Given the description of an element on the screen output the (x, y) to click on. 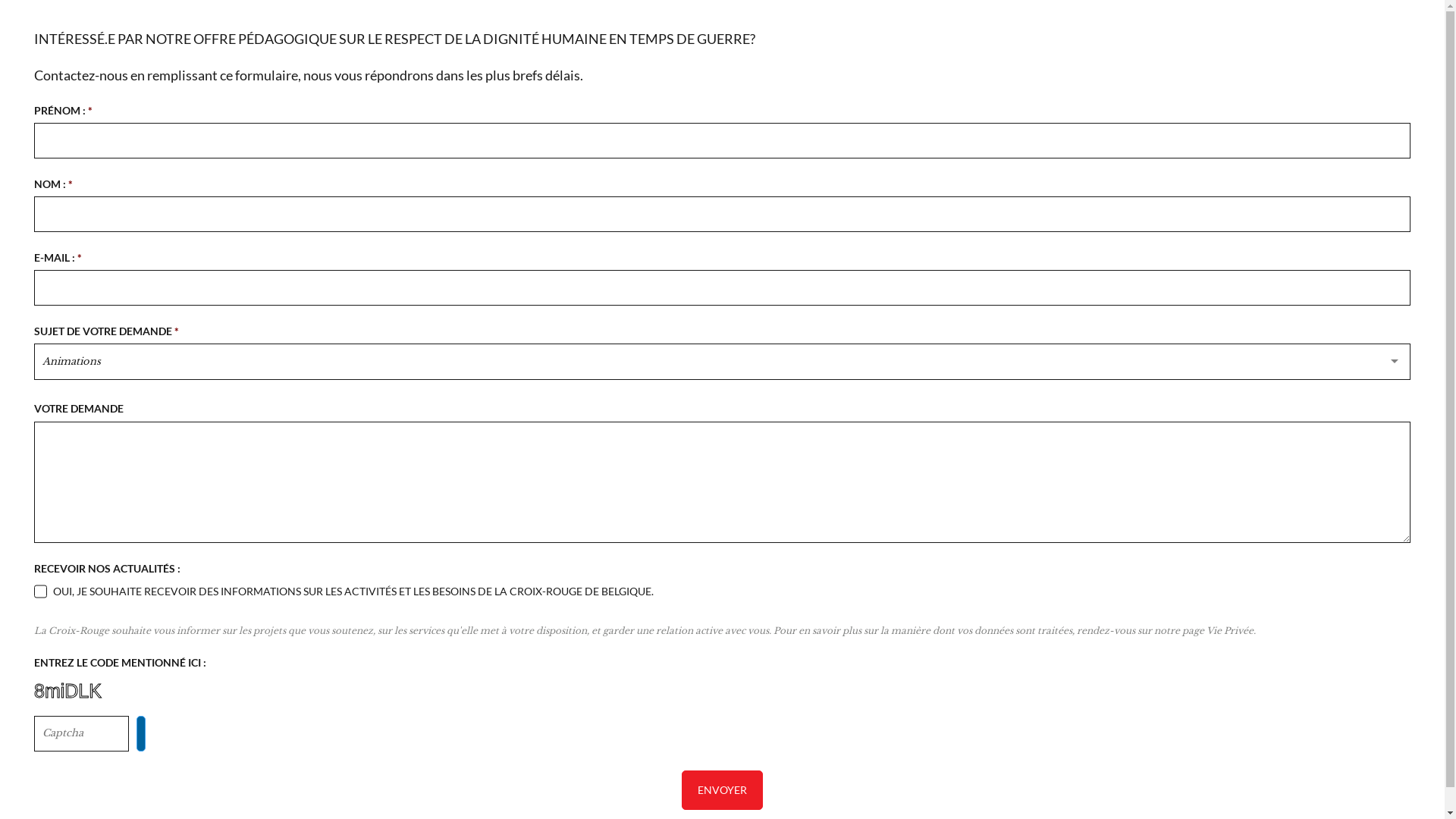
ENVOYER Element type: text (721, 789)
